Given the description of an element on the screen output the (x, y) to click on. 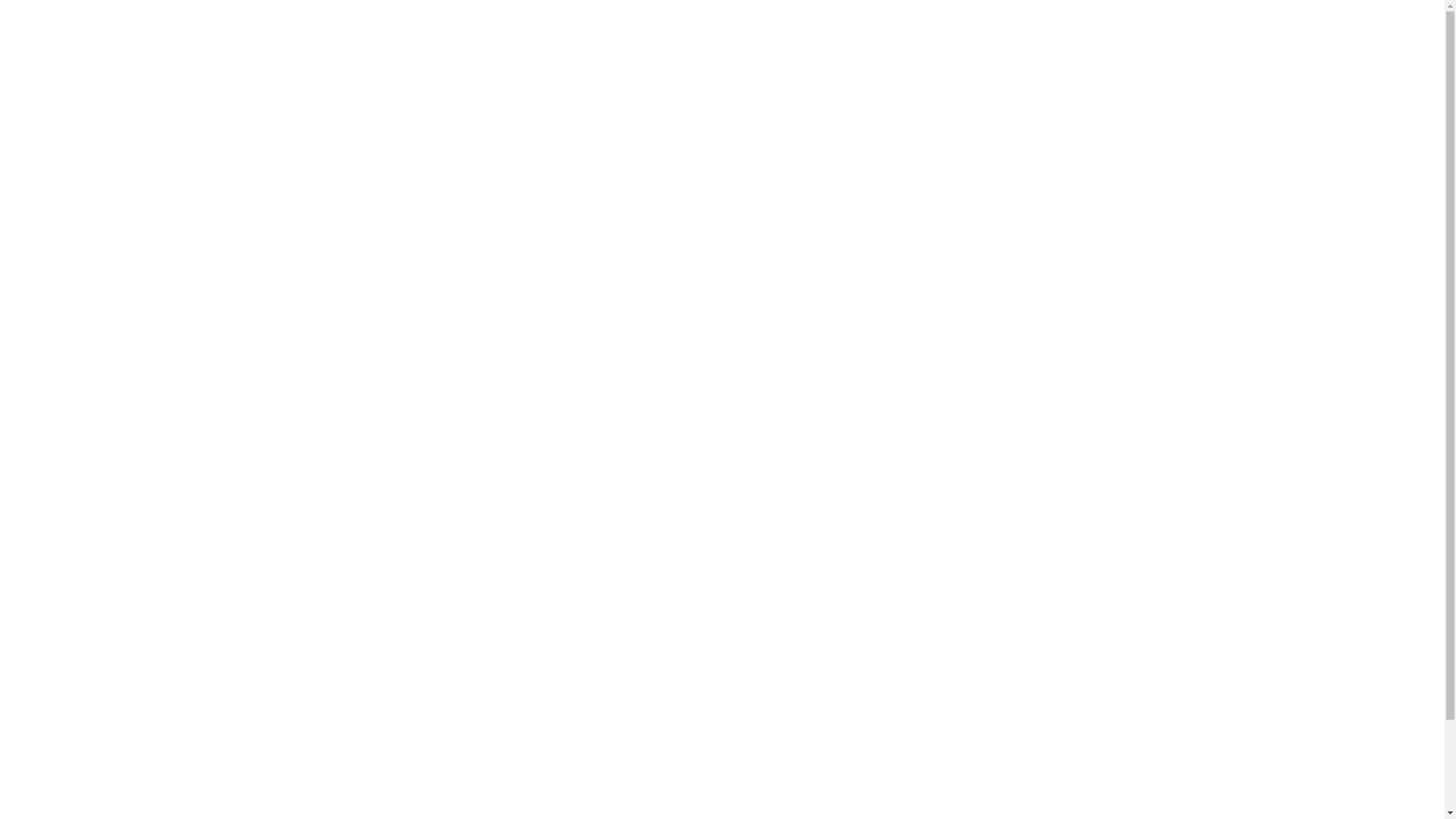
> mehr Element type: text (1046, 524)
Betriebe Element type: text (943, 25)
Bioring Appenzellerland Element type: hover (359, 24)
angemeldet Element type: text (422, 677)
Bio Betrieb Claudia & Werner Schmid Element type: text (751, 495)
Hauptversammlung Element type: text (1035, 207)
Agenda Element type: text (1069, 25)
Rundbrief Element type: text (1007, 25)
Suche Element type: text (45, 18)
Betrieb Robert Egli Element type: text (397, 495)
> mehr Element type: text (1044, 388)
Galerie Element type: text (1126, 25)
